Given the description of an element on the screen output the (x, y) to click on. 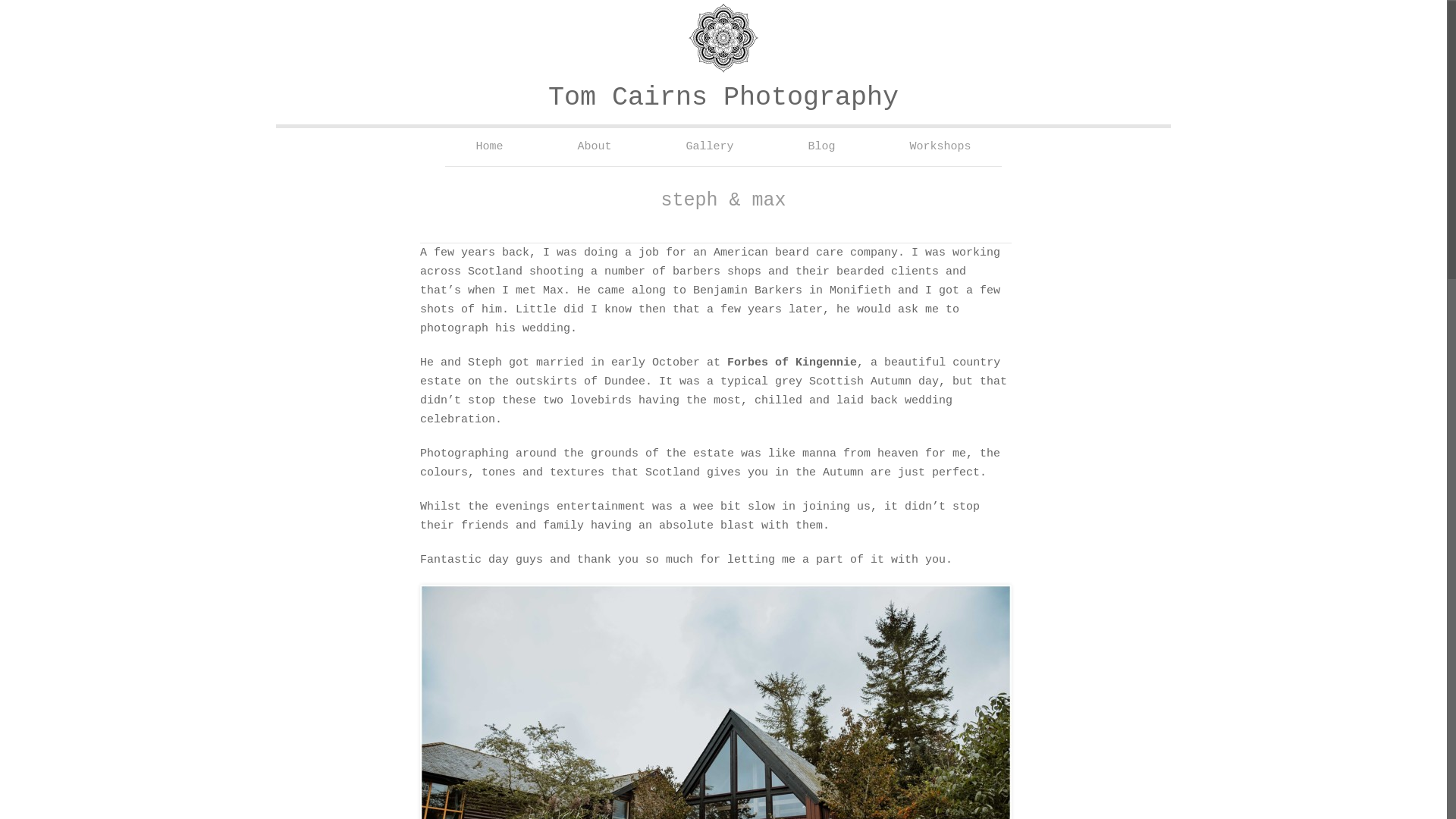
Home (489, 146)
Tom Cairns Photography (723, 97)
Gallery (708, 146)
About (594, 146)
Forbes of Kingennie (791, 362)
Blog (821, 146)
Workshops (941, 146)
